Given the description of an element on the screen output the (x, y) to click on. 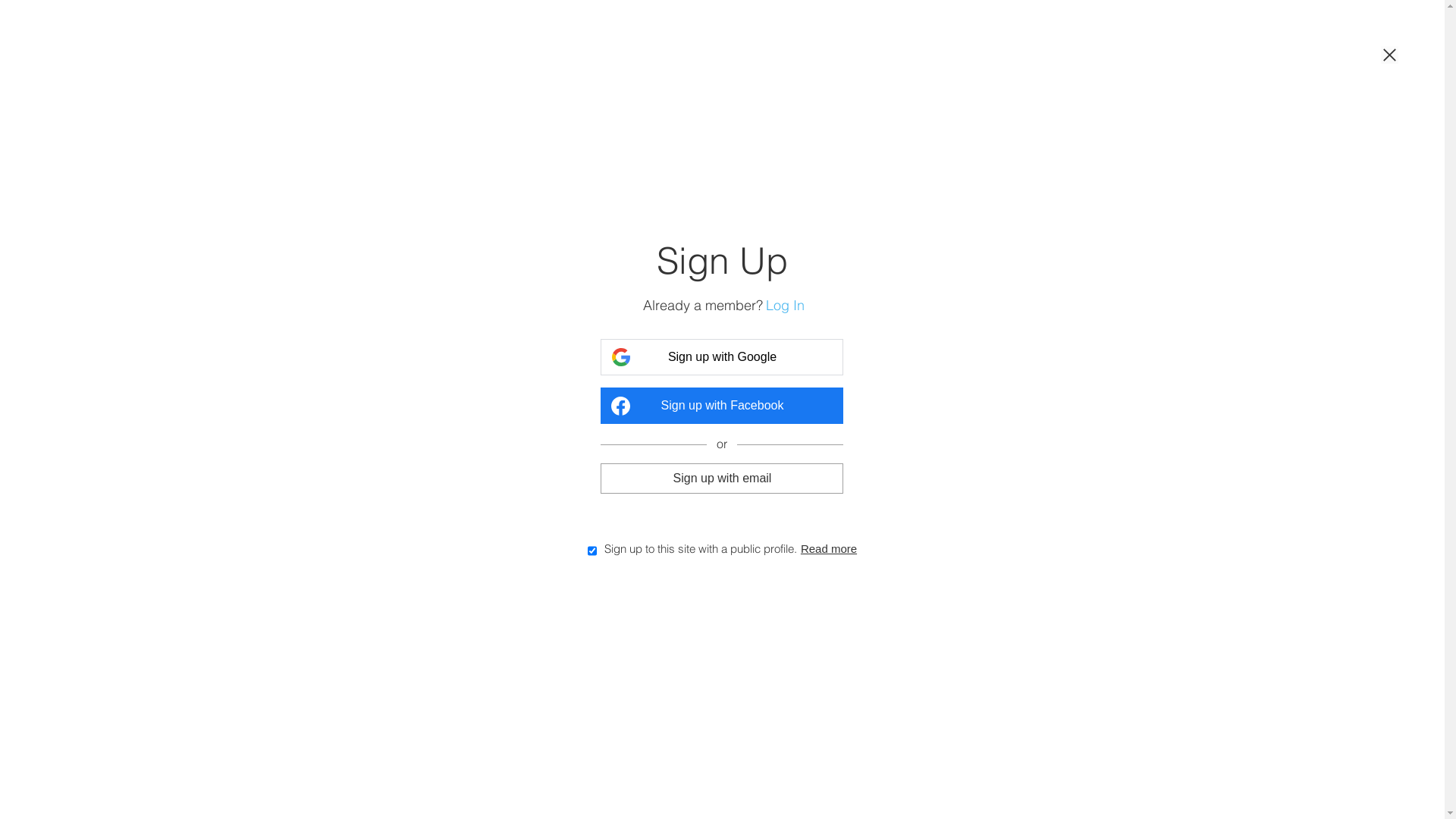
Sign up with Facebook Element type: text (721, 404)
Sign up with Google Element type: text (721, 356)
Sign up with email Element type: text (721, 477)
Log In Element type: text (784, 305)
Read more Element type: text (828, 547)
